Given the description of an element on the screen output the (x, y) to click on. 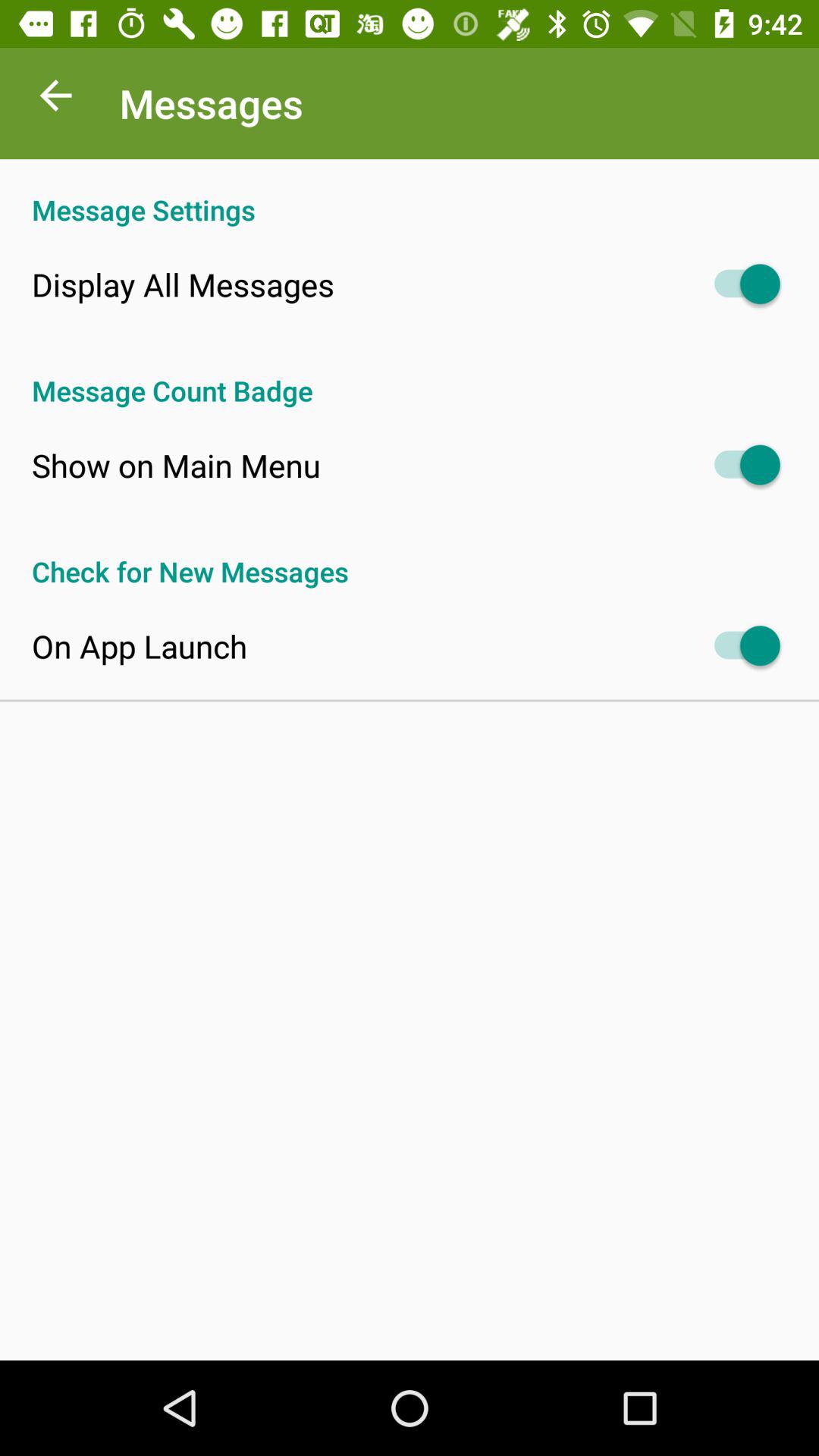
select the display all messages app (182, 283)
